Given the description of an element on the screen output the (x, y) to click on. 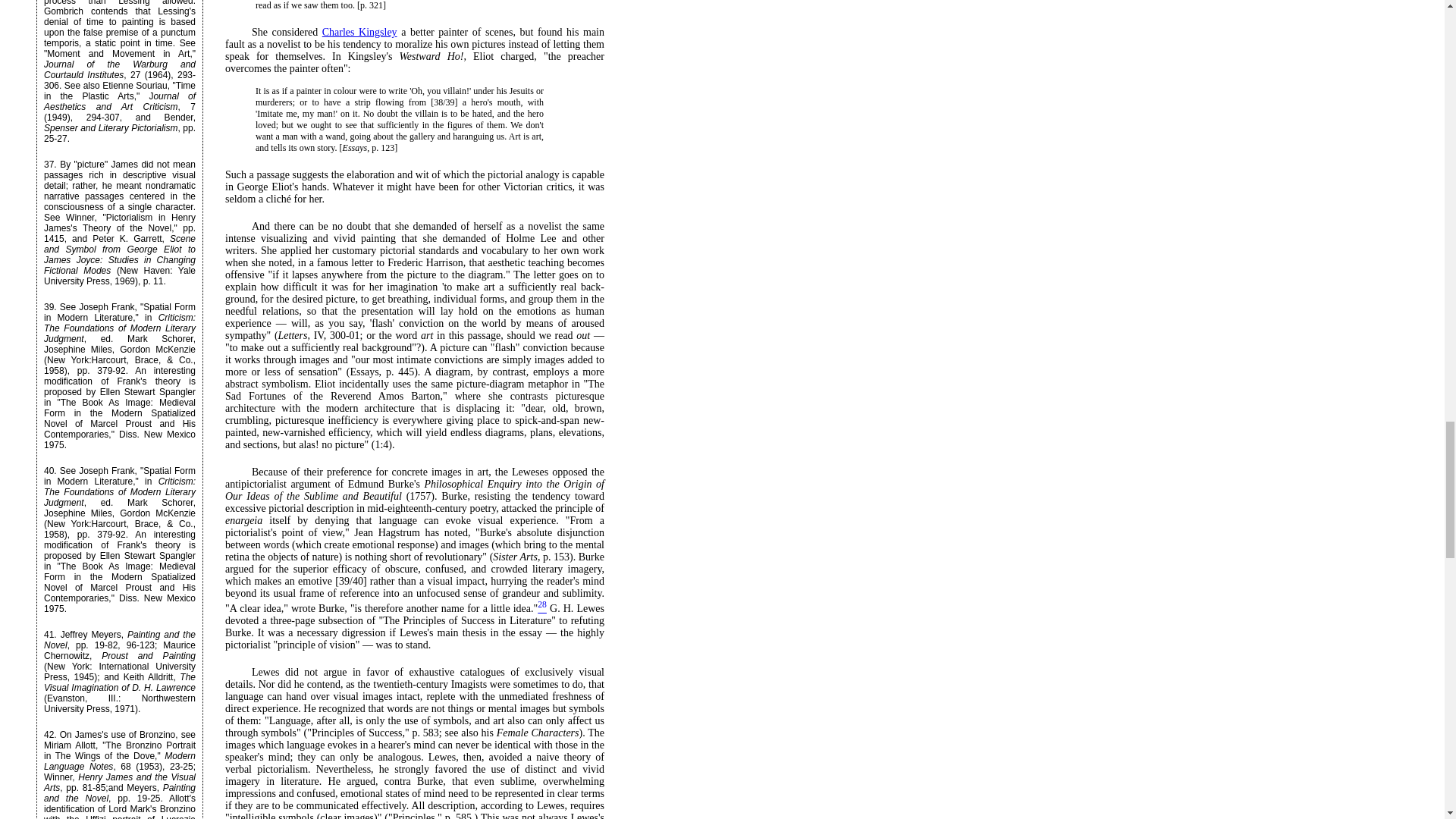
40 (48, 470)
42 (48, 734)
39 (48, 307)
37 (48, 163)
41 (48, 634)
